Given the description of an element on the screen output the (x, y) to click on. 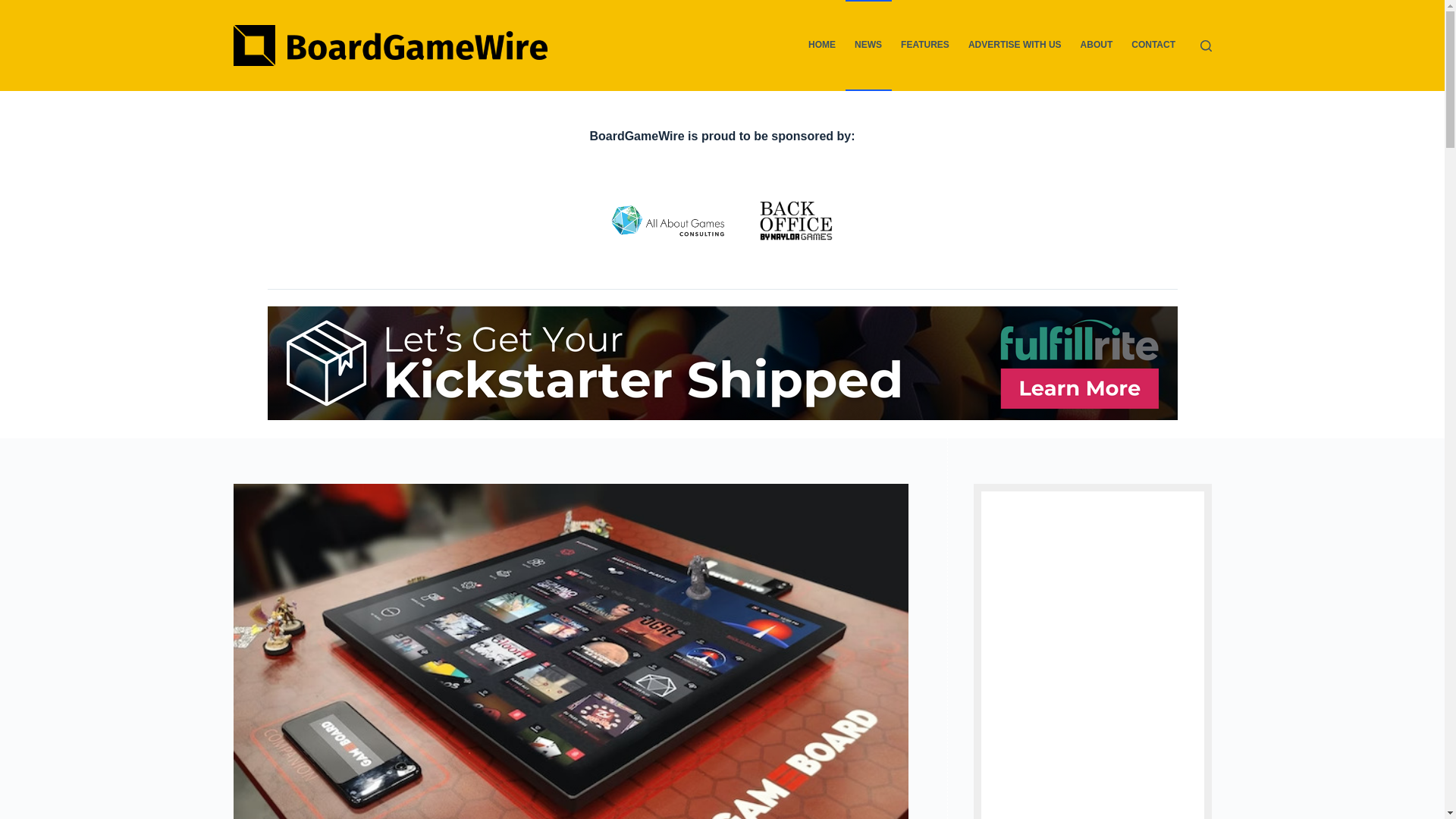
Skip to content (15, 7)
ADVERTISE WITH US (1014, 45)
